Given the description of an element on the screen output the (x, y) to click on. 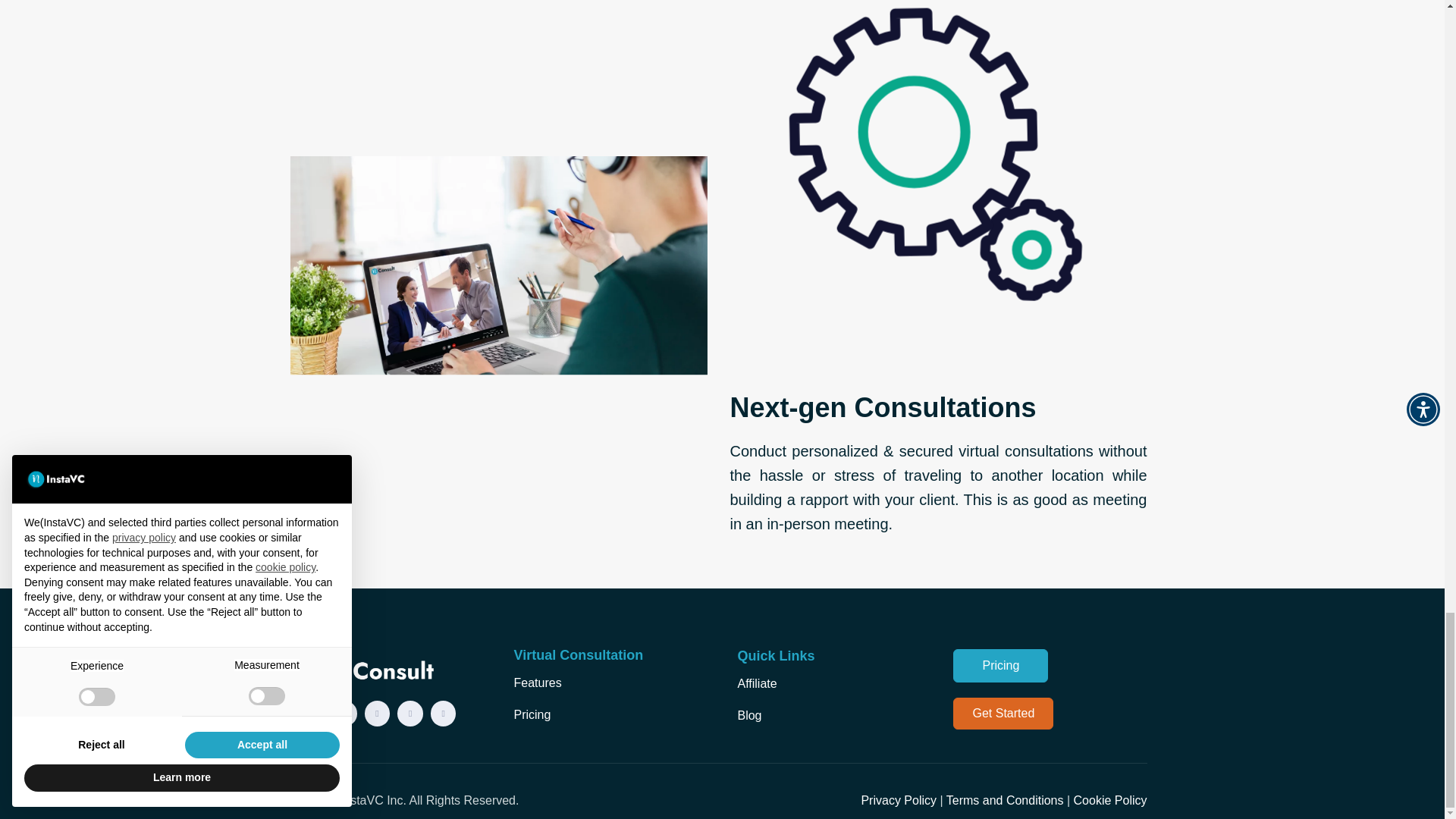
Pricing (531, 714)
Get Started (1002, 713)
Pricing (1000, 665)
Features (536, 682)
InstaVC Inc. (373, 799)
Affiliate (756, 683)
Privacy Policy (898, 799)
Terms and Conditions (1005, 799)
Cookie Policy (1110, 799)
Blog (748, 715)
